Given the description of an element on the screen output the (x, y) to click on. 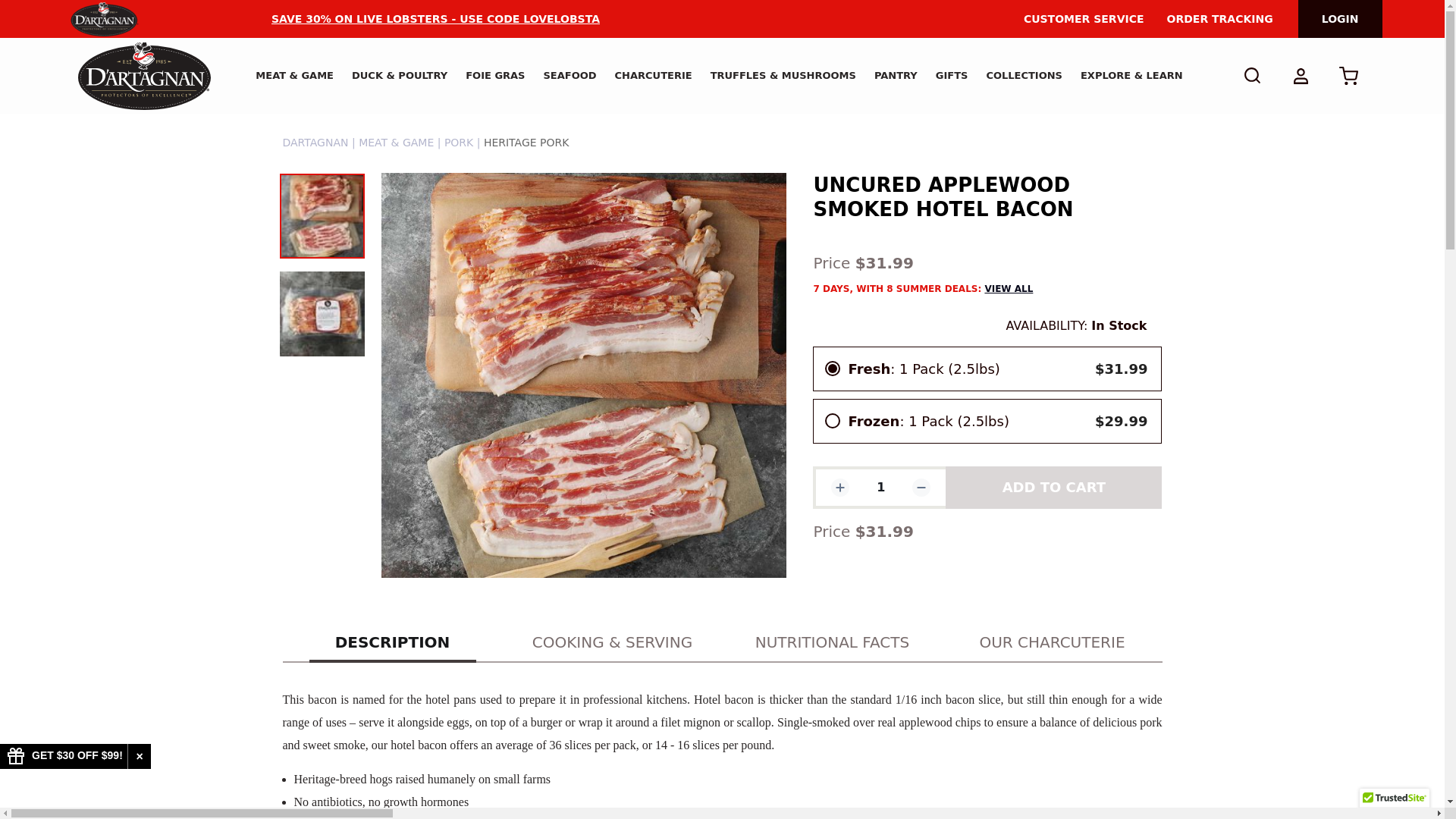
ORDER TRACKING (1219, 18)
Customer Service (1083, 18)
dartagnan (103, 19)
Cart 0 Items (1347, 74)
Order Tracking (1219, 18)
dartagnan (143, 75)
CUSTOMER SERVICE (1083, 18)
Dartagnan (103, 18)
Dartagnan (144, 75)
Lobstergram (199, 19)
Uncured Applewood Smoked Hotel Bacon (321, 215)
1 (881, 487)
LOGIN (1339, 18)
Uncured Applewood Smoked Hotel Bacon (321, 313)
